Given the description of an element on the screen output the (x, y) to click on. 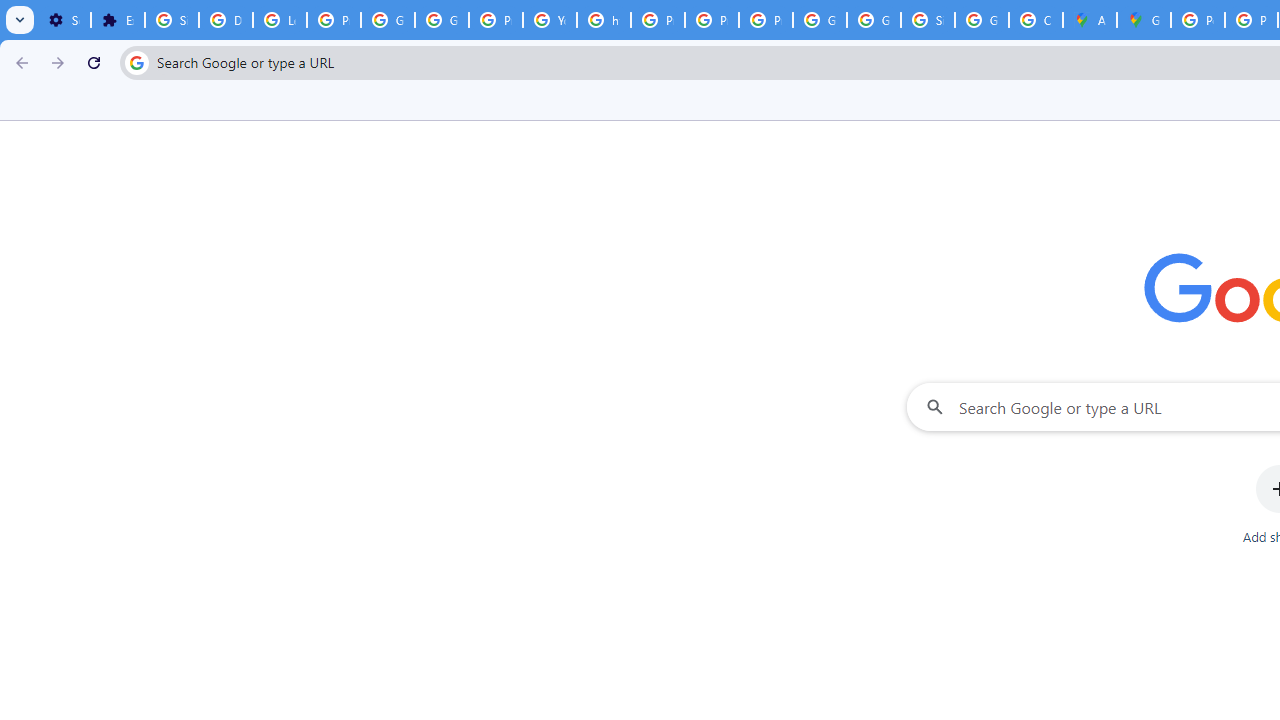
Privacy Help Center - Policies Help (657, 20)
Delete photos & videos - Computer - Google Photos Help (225, 20)
Sign in - Google Accounts (171, 20)
https://scholar.google.com/ (604, 20)
Settings - On startup (63, 20)
Policy Accountability and Transparency - Transparency Center (1197, 20)
